Given the description of an element on the screen output the (x, y) to click on. 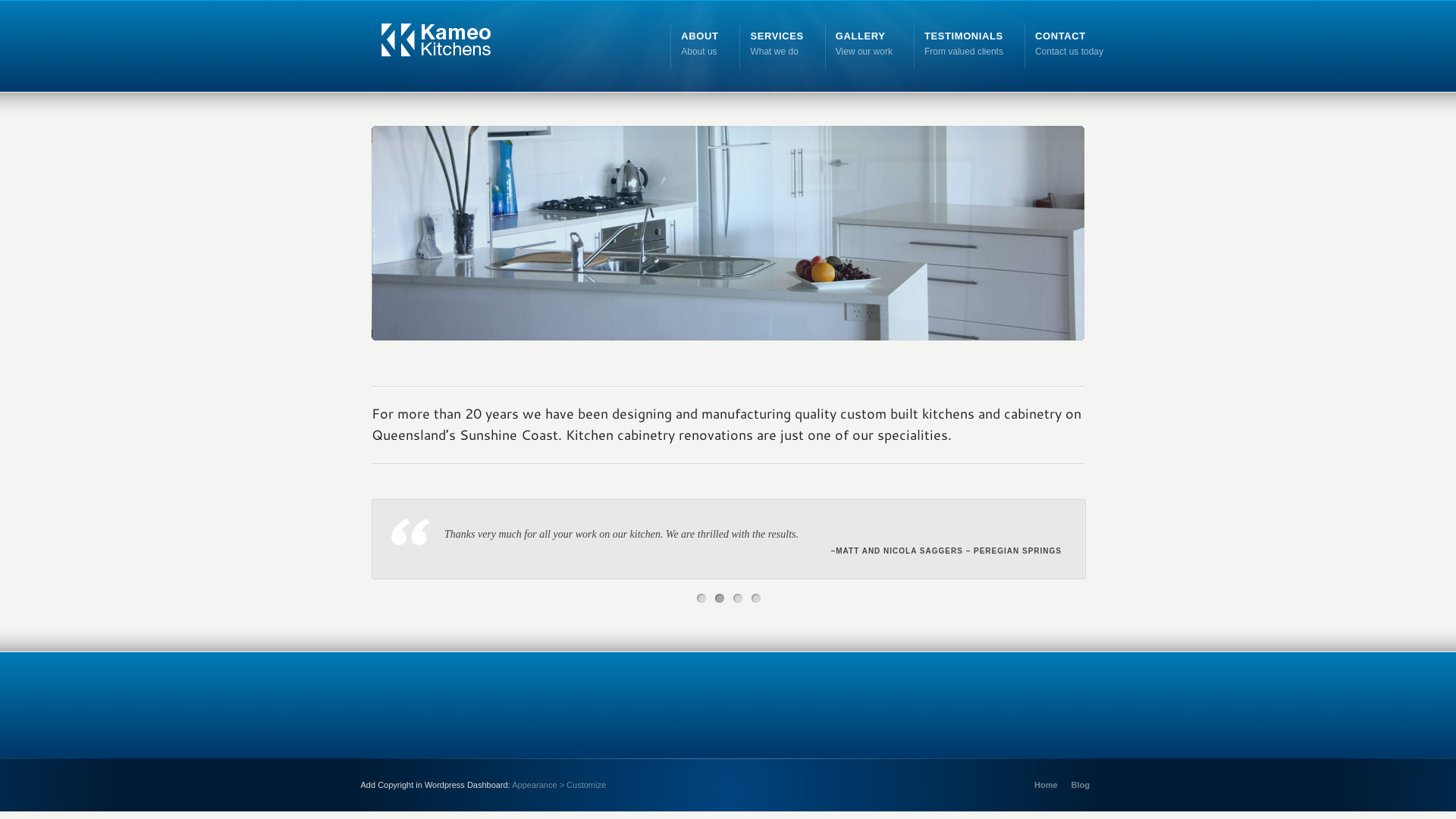
kitchen-01 Element type: hover (727, 248)
Gallery Element type: hover (727, 351)
GALLERY
View our work Element type: text (863, 42)
2 Element type: text (719, 597)
1 Element type: text (724, 344)
Home Element type: text (1045, 784)
TESTIMONIALS
From valued clients Element type: text (963, 42)
4 Element type: text (755, 597)
3 Element type: text (737, 597)
3 Element type: text (760, 344)
ABOUT
About us Element type: text (699, 42)
2 Element type: text (742, 344)
Appearance > Customize Element type: text (558, 784)
1 Element type: text (701, 597)
Blog Element type: text (1080, 784)
SERVICES
What we do Element type: text (776, 42)
CONTACT
Contact us today Element type: text (1069, 42)
Gallery Element type: hover (727, 336)
kitchen-02 Element type: hover (727, 232)
